Given the description of an element on the screen output the (x, y) to click on. 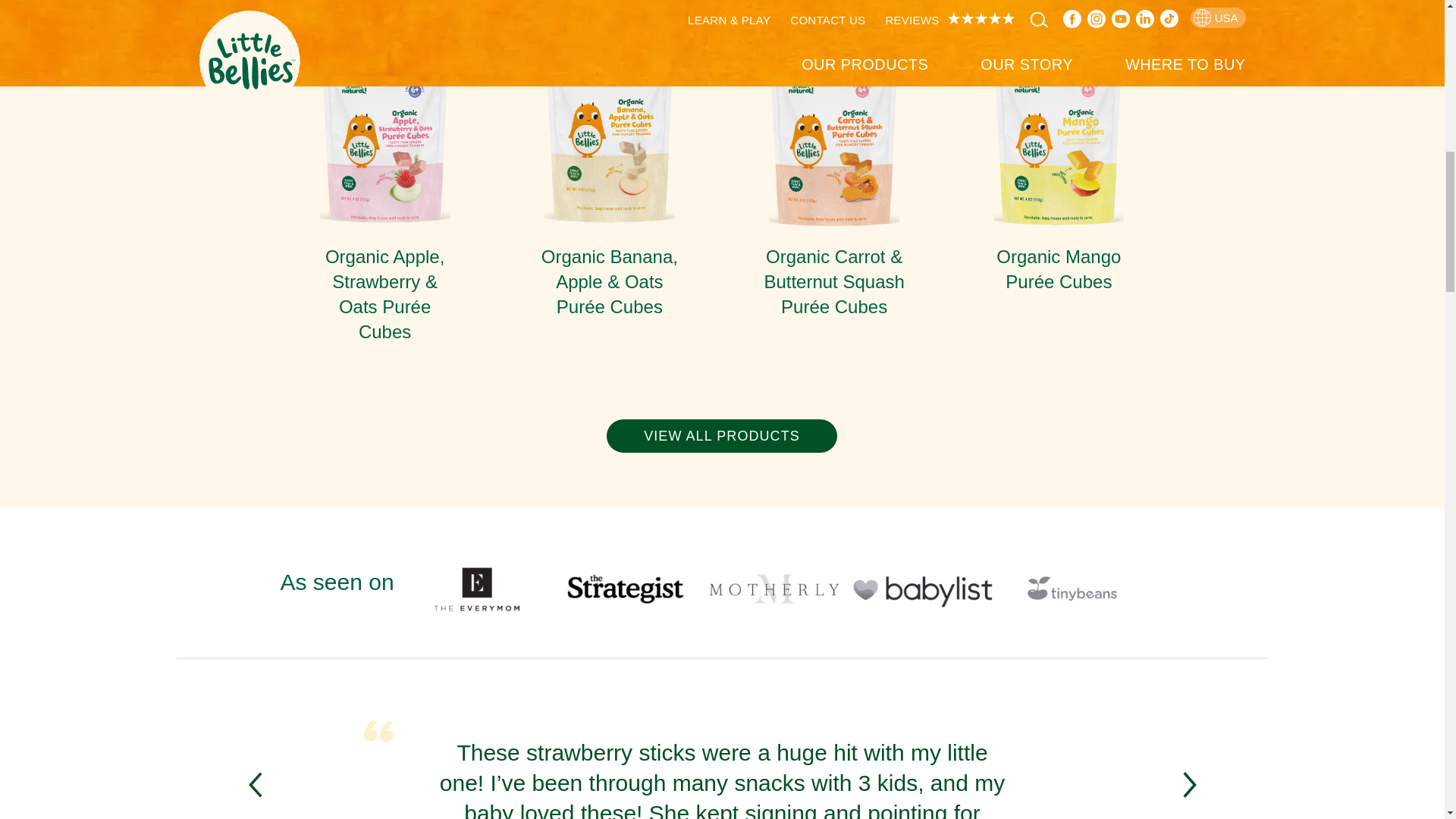
The Strategist (624, 588)
The Every Mom (476, 588)
Motherly (773, 588)
